Given the description of an element on the screen output the (x, y) to click on. 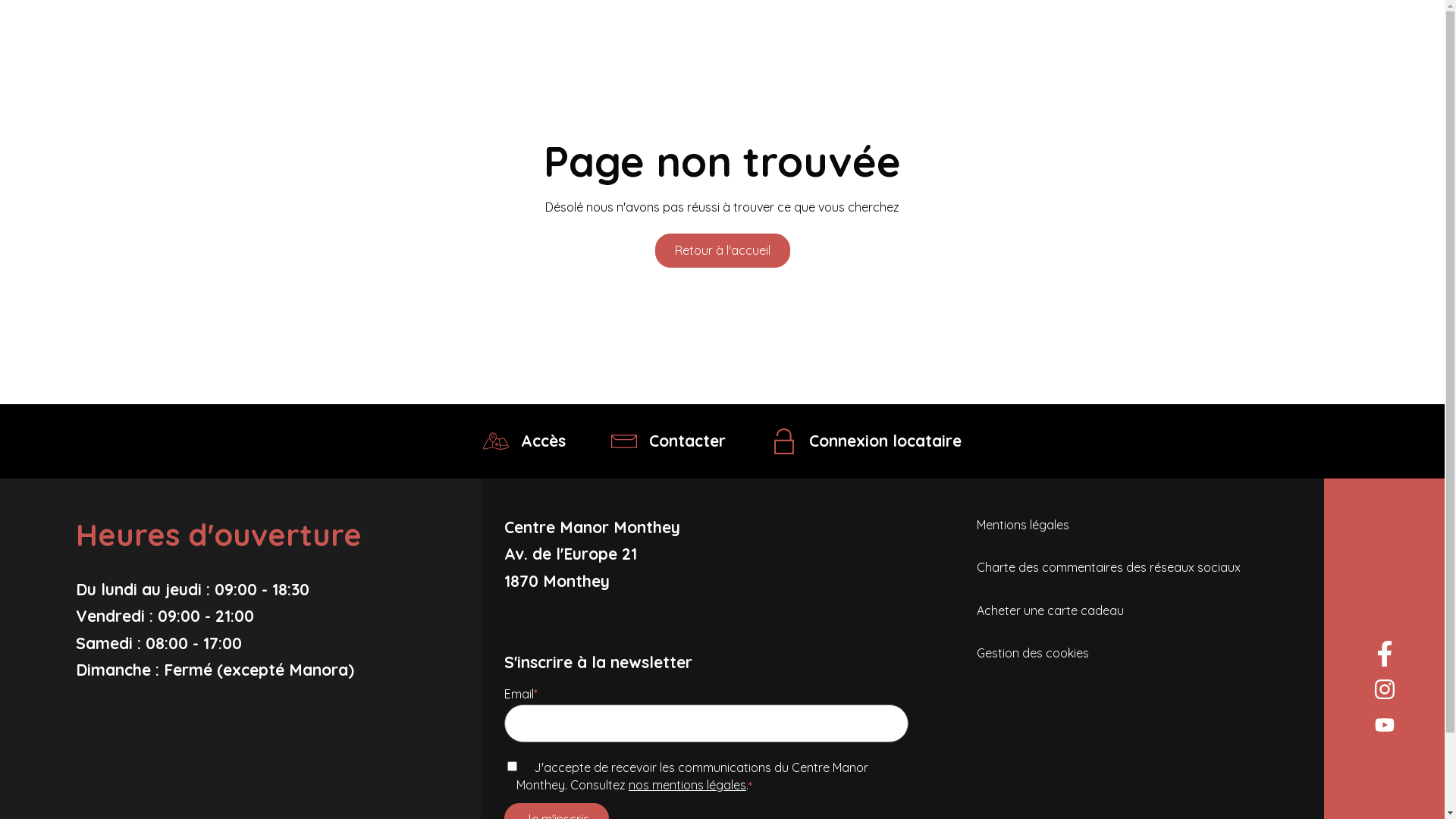
Contacter Element type: text (668, 441)
Acheter une carte cadeau Element type: text (1049, 610)
Gestion des cookies Element type: text (1032, 652)
Connexion locataire Element type: text (866, 441)
